Given the description of an element on the screen output the (x, y) to click on. 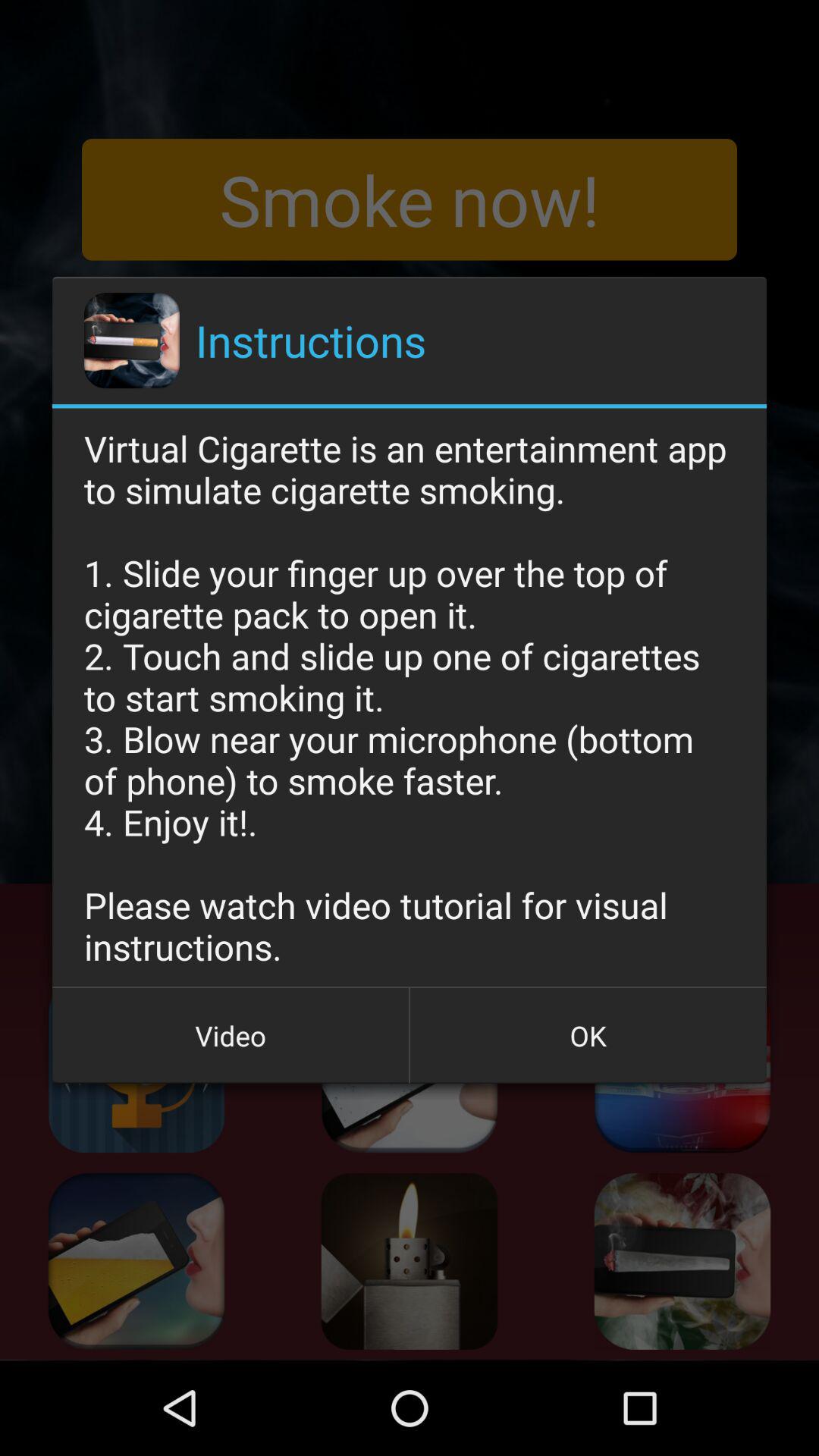
open the icon to the right of the video button (588, 1035)
